Given the description of an element on the screen output the (x, y) to click on. 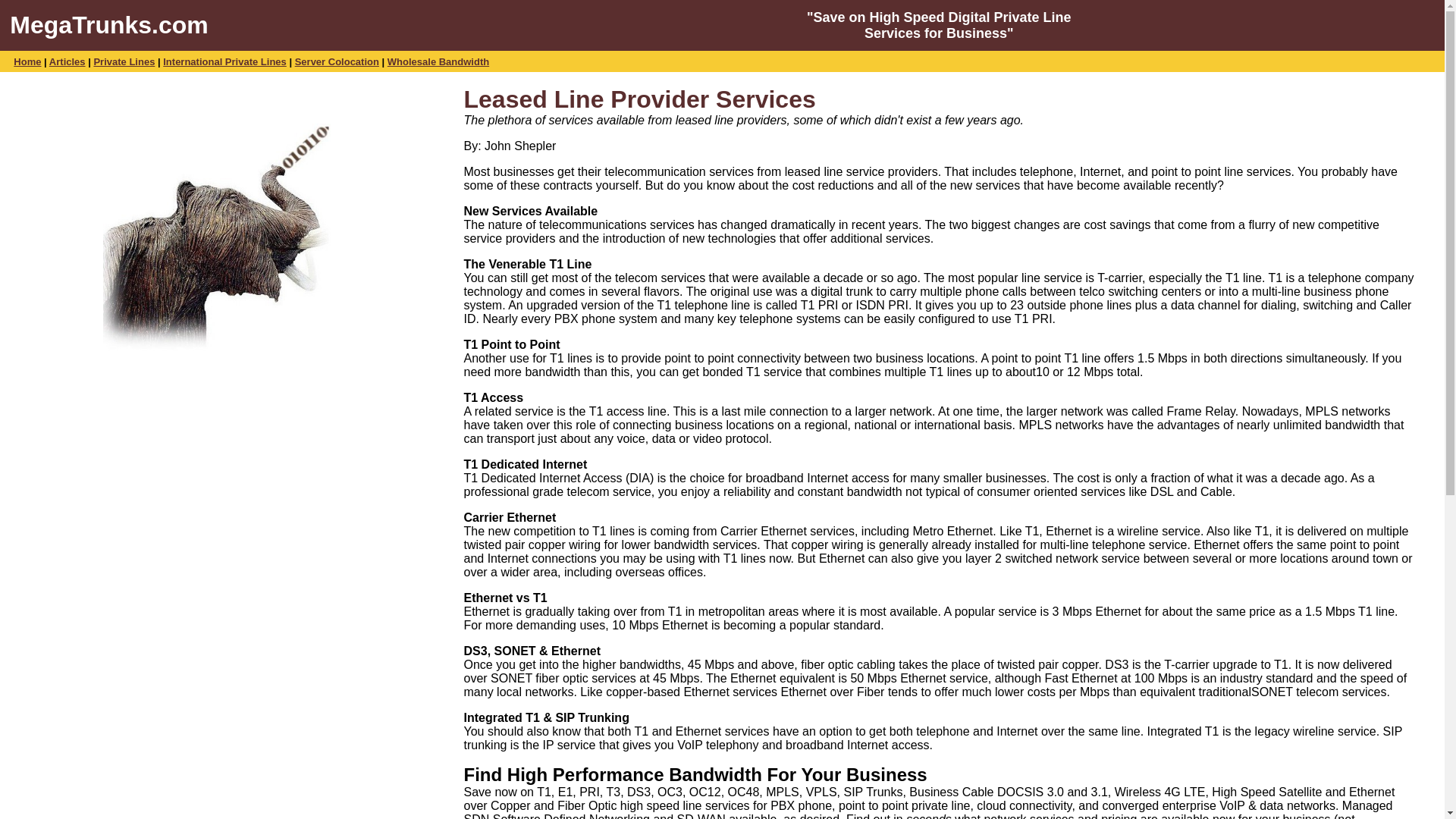
Home (26, 60)
Private Lines (123, 61)
Wholesale Bandwidth (438, 61)
International Private Lines (224, 61)
Server Colocation (336, 61)
Articles (67, 61)
